Given the description of an element on the screen output the (x, y) to click on. 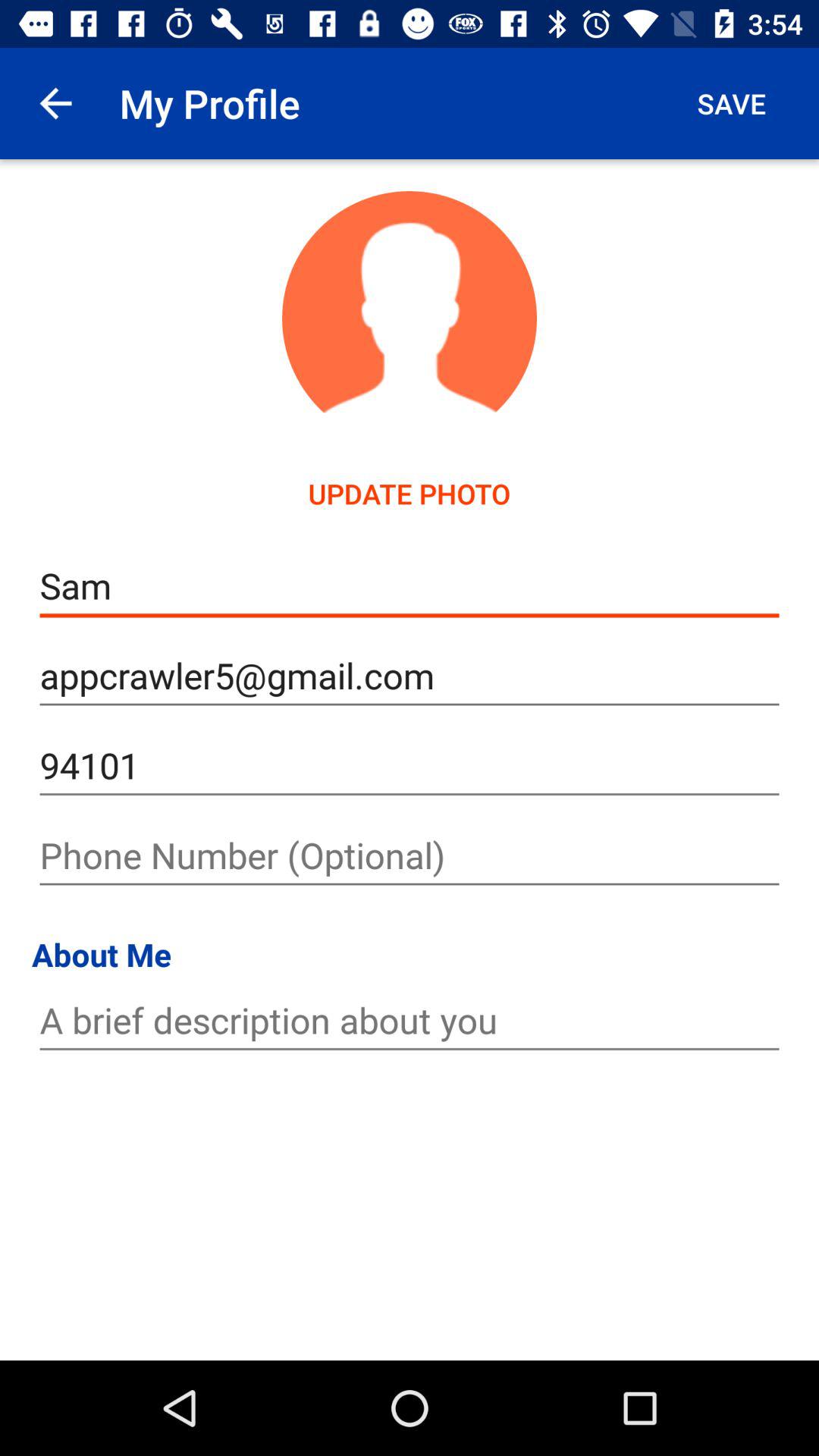
select icon below the update photo icon (409, 586)
